Given the description of an element on the screen output the (x, y) to click on. 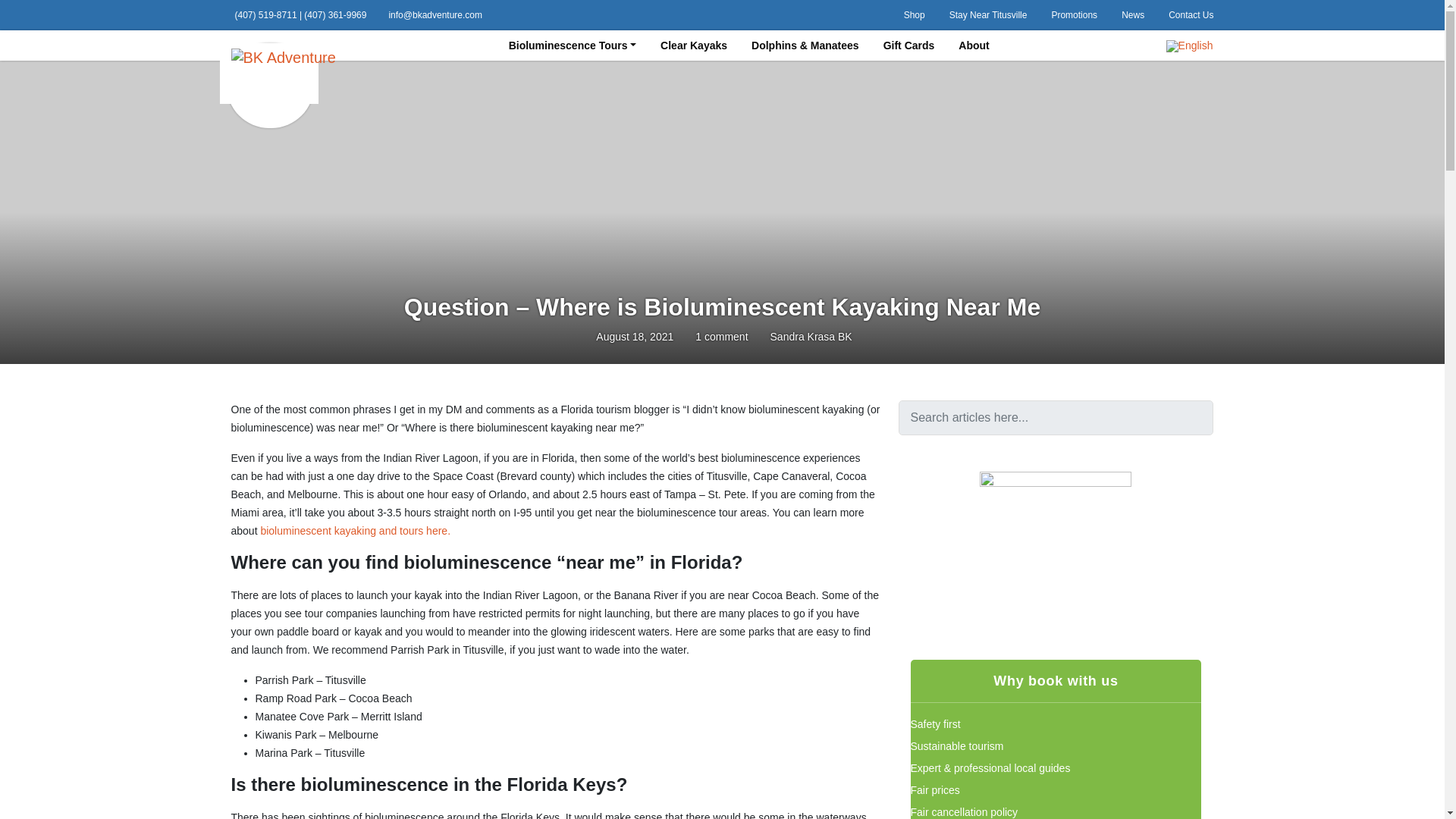
Promotions (1074, 15)
Stay Near Titusville (988, 15)
Gift Cards (908, 45)
Bioluminescence Tours (572, 45)
Contact Us (1190, 15)
News (1132, 15)
Clear Kayaks (693, 45)
Shop (914, 15)
About (973, 45)
